Given the description of an element on the screen output the (x, y) to click on. 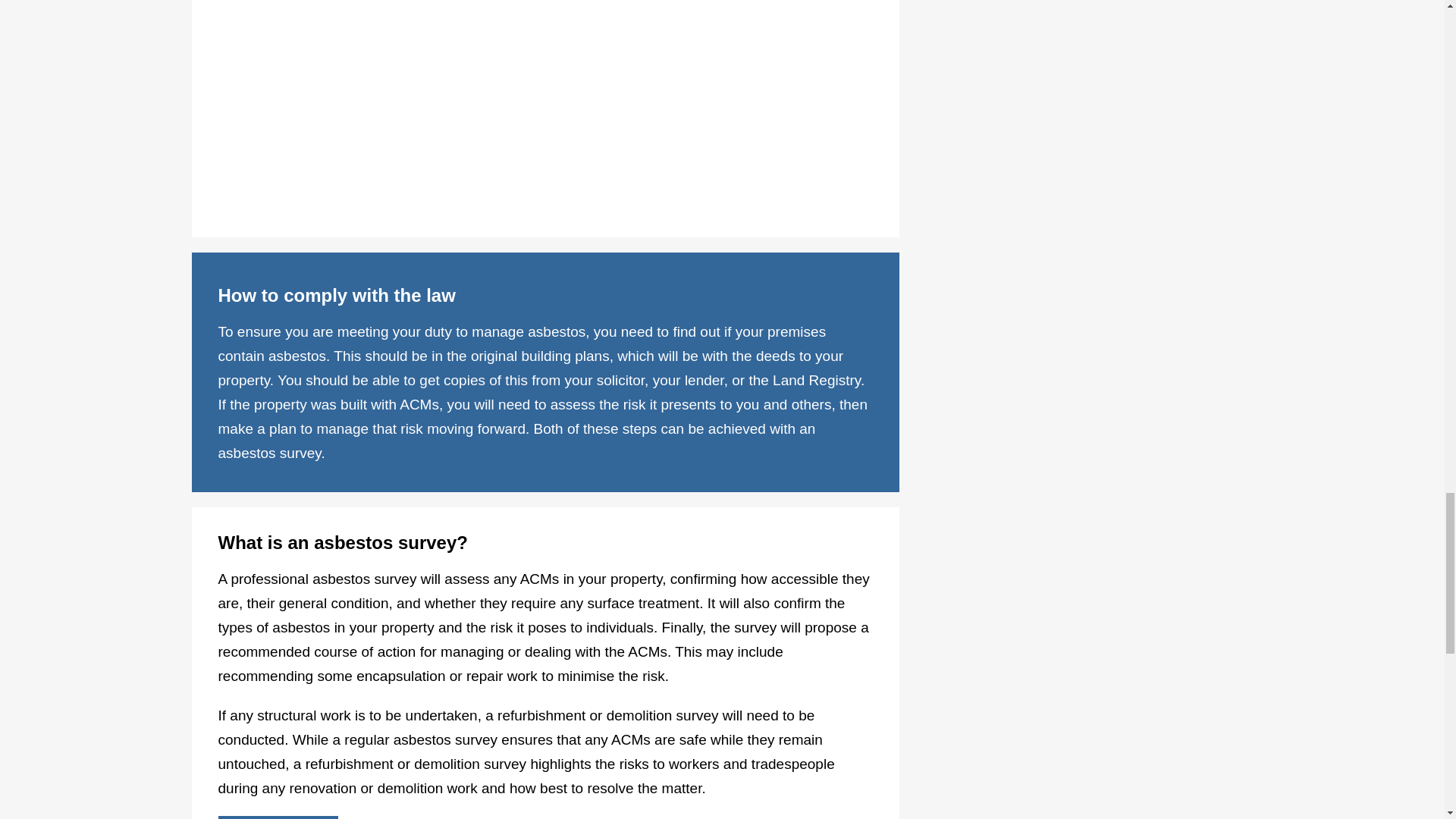
Get Surveyed (278, 817)
